Given the description of an element on the screen output the (x, y) to click on. 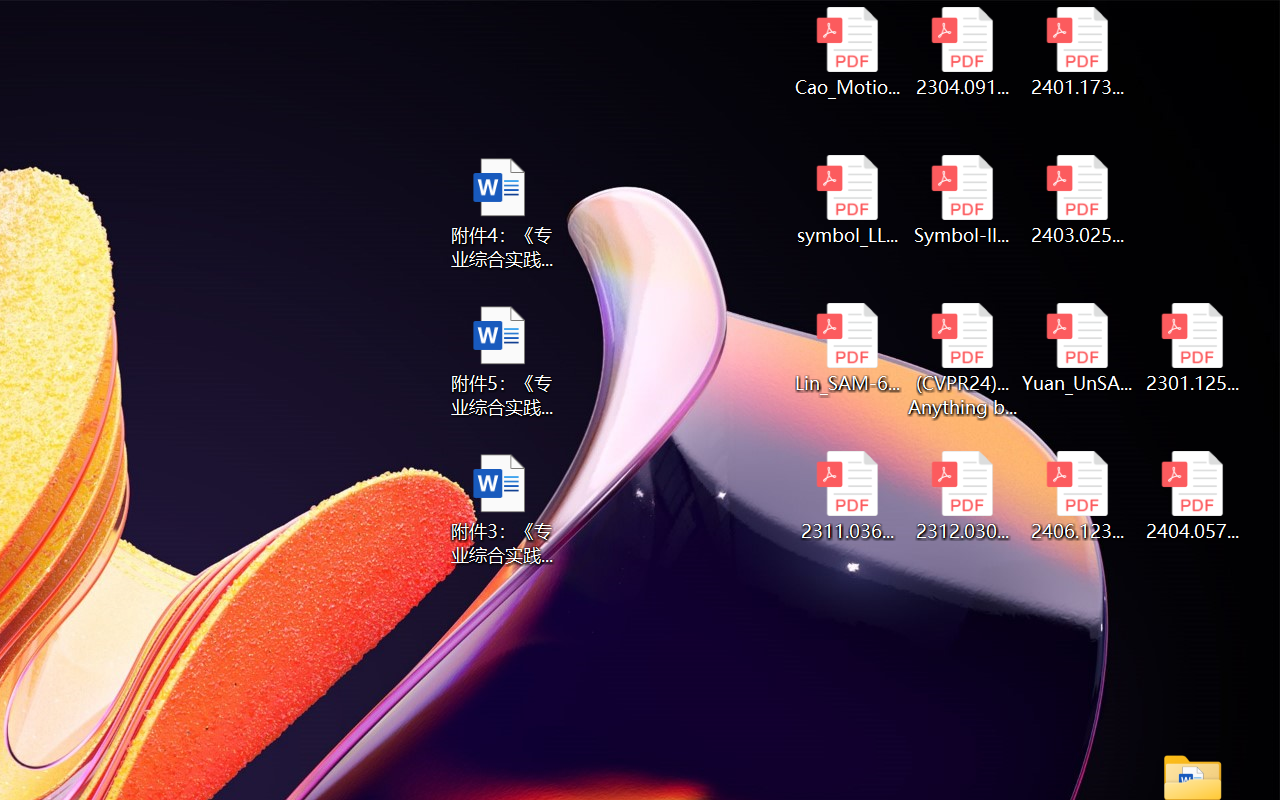
2311.03658v2.pdf (846, 496)
symbol_LLM.pdf (846, 200)
